Given the description of an element on the screen output the (x, y) to click on. 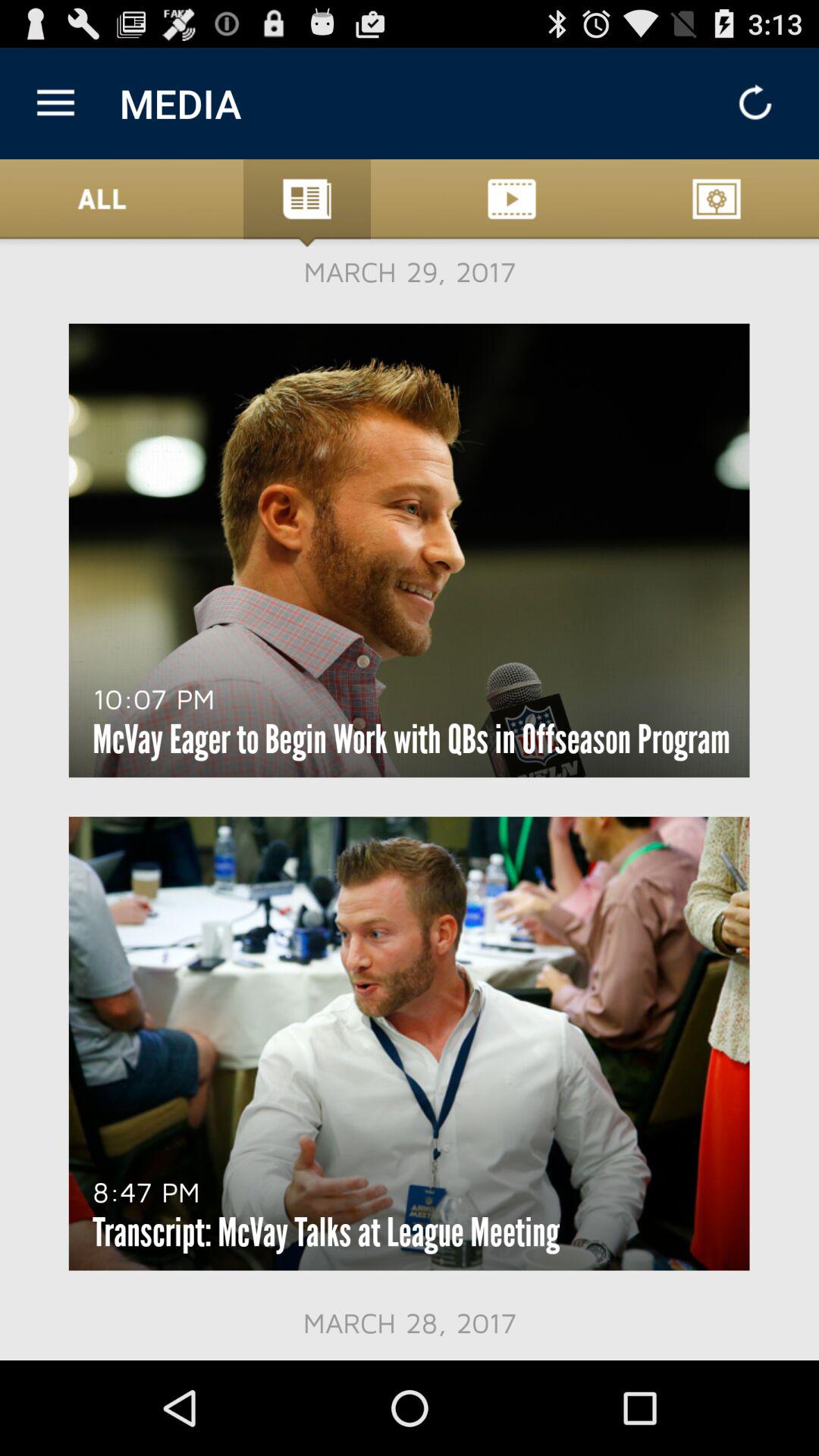
open app next to the media app (55, 103)
